Given the description of an element on the screen output the (x, y) to click on. 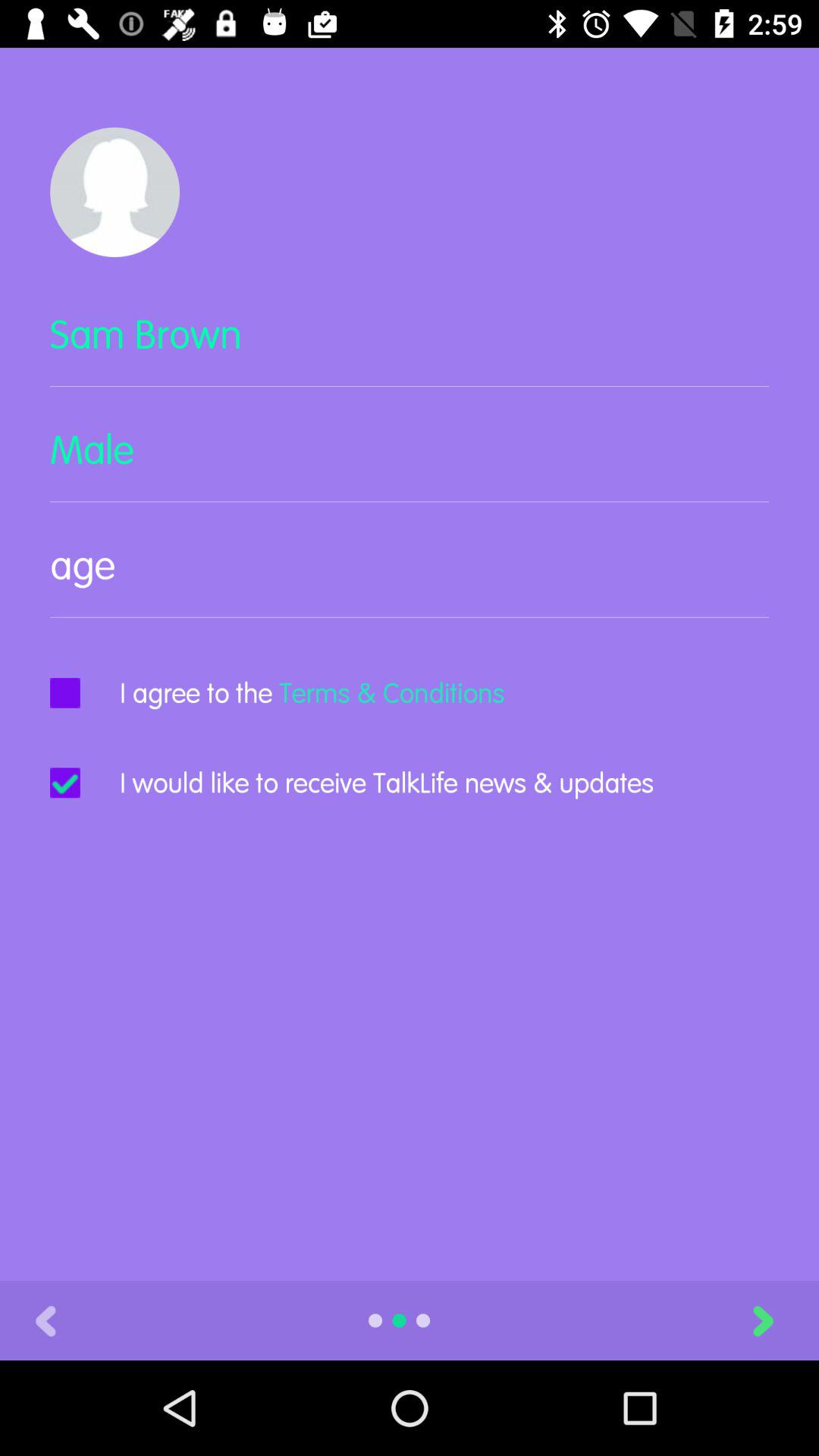
jump until the male icon (409, 462)
